Given the description of an element on the screen output the (x, y) to click on. 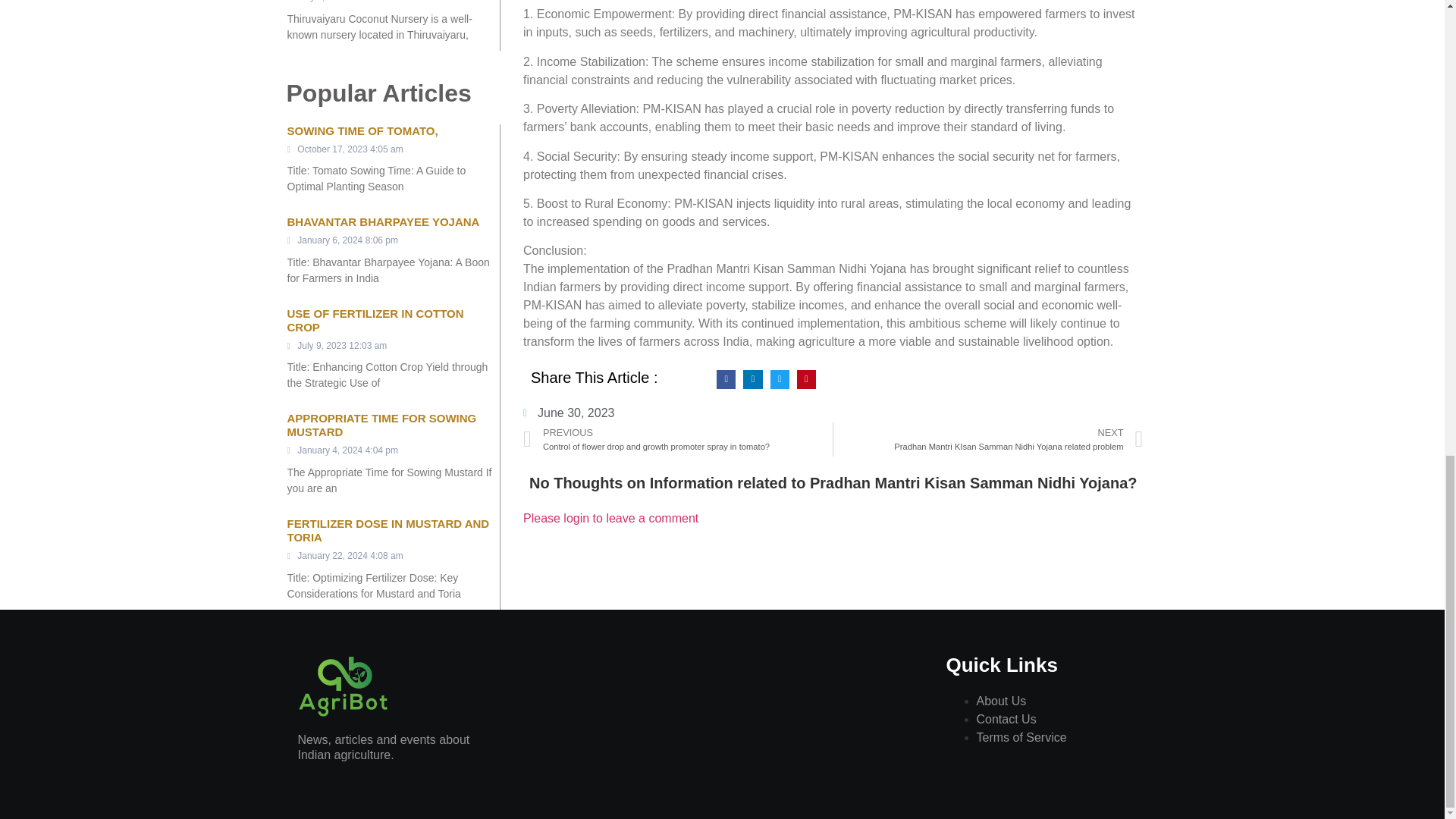
About Us (1001, 700)
APPROPRIATE TIME FOR SOWING MUSTARD (381, 424)
FERTILIZER DOSE IN MUSTARD AND TORIA (387, 529)
SOWING TIME OF TOMATO, (362, 130)
BHAVANTAR BHARPAYEE YOJANA (382, 221)
Terms of Service (1021, 737)
Please login to leave a comment (610, 517)
USE OF FERTILIZER IN COTTON CROP (374, 320)
June 30, 2023 (568, 413)
Contact Us (1006, 718)
